Given the description of an element on the screen output the (x, y) to click on. 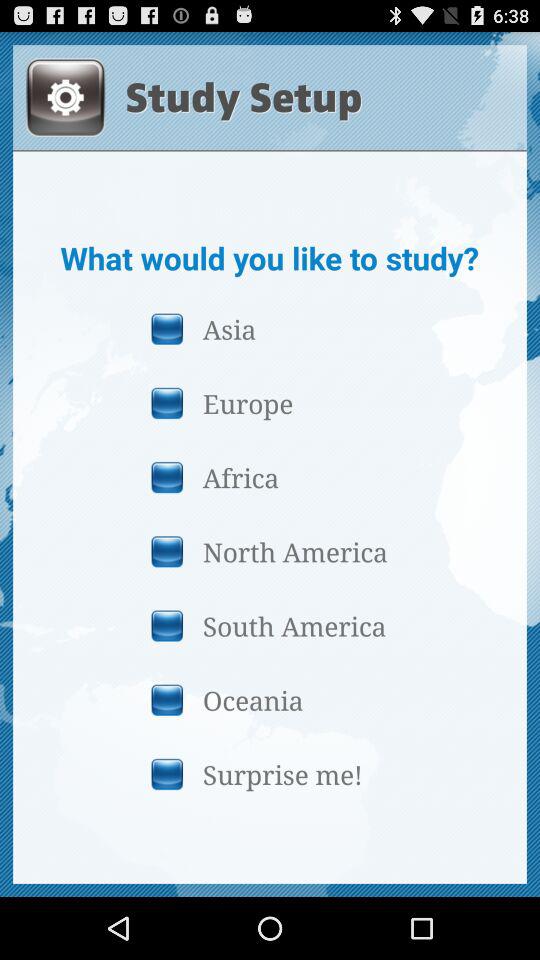
tap the button above the europe (269, 328)
